Given the description of an element on the screen output the (x, y) to click on. 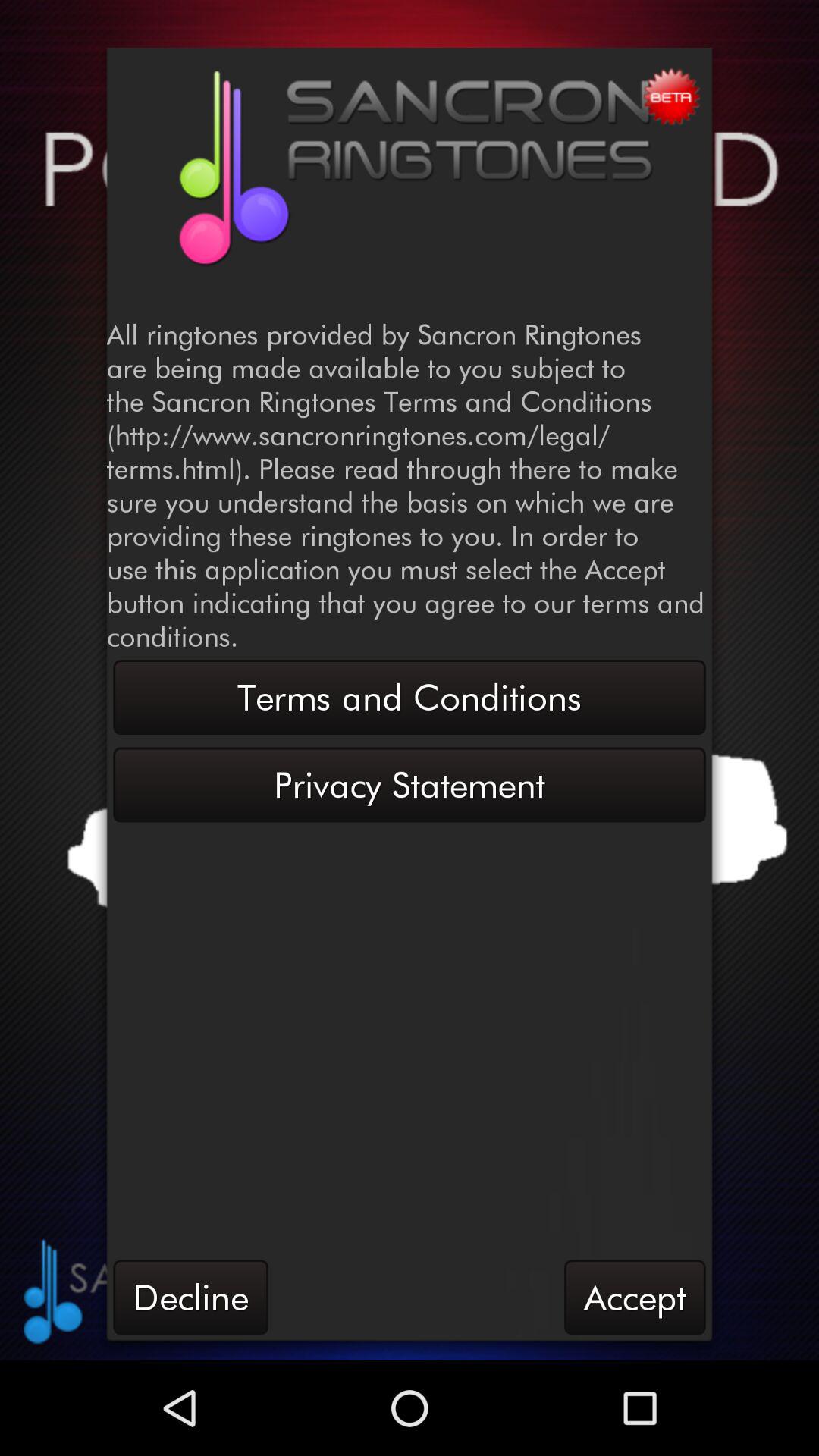
launch item below privacy statement item (634, 1296)
